Given the description of an element on the screen output the (x, y) to click on. 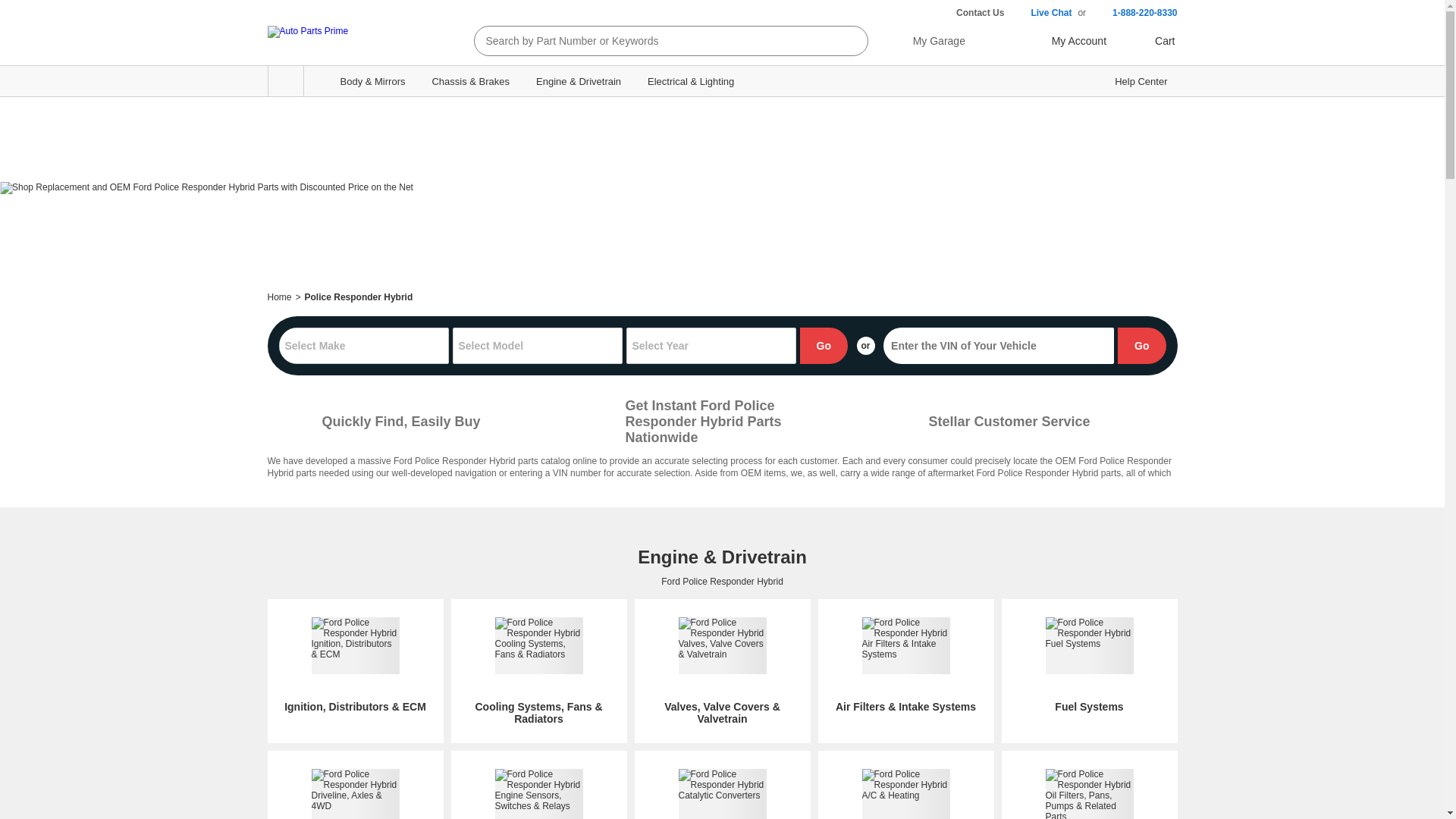
1-888-220-8330 (1134, 13)
Home (278, 296)
Live Chat (1040, 13)
Catalytic Converters (721, 794)
Home (278, 296)
Fuel Systems (1088, 664)
Go (1142, 345)
Go (823, 345)
Search by Part Number or Keywords (657, 40)
Catalytic Converters (721, 794)
Fuel Systems (1088, 664)
